Given the description of an element on the screen output the (x, y) to click on. 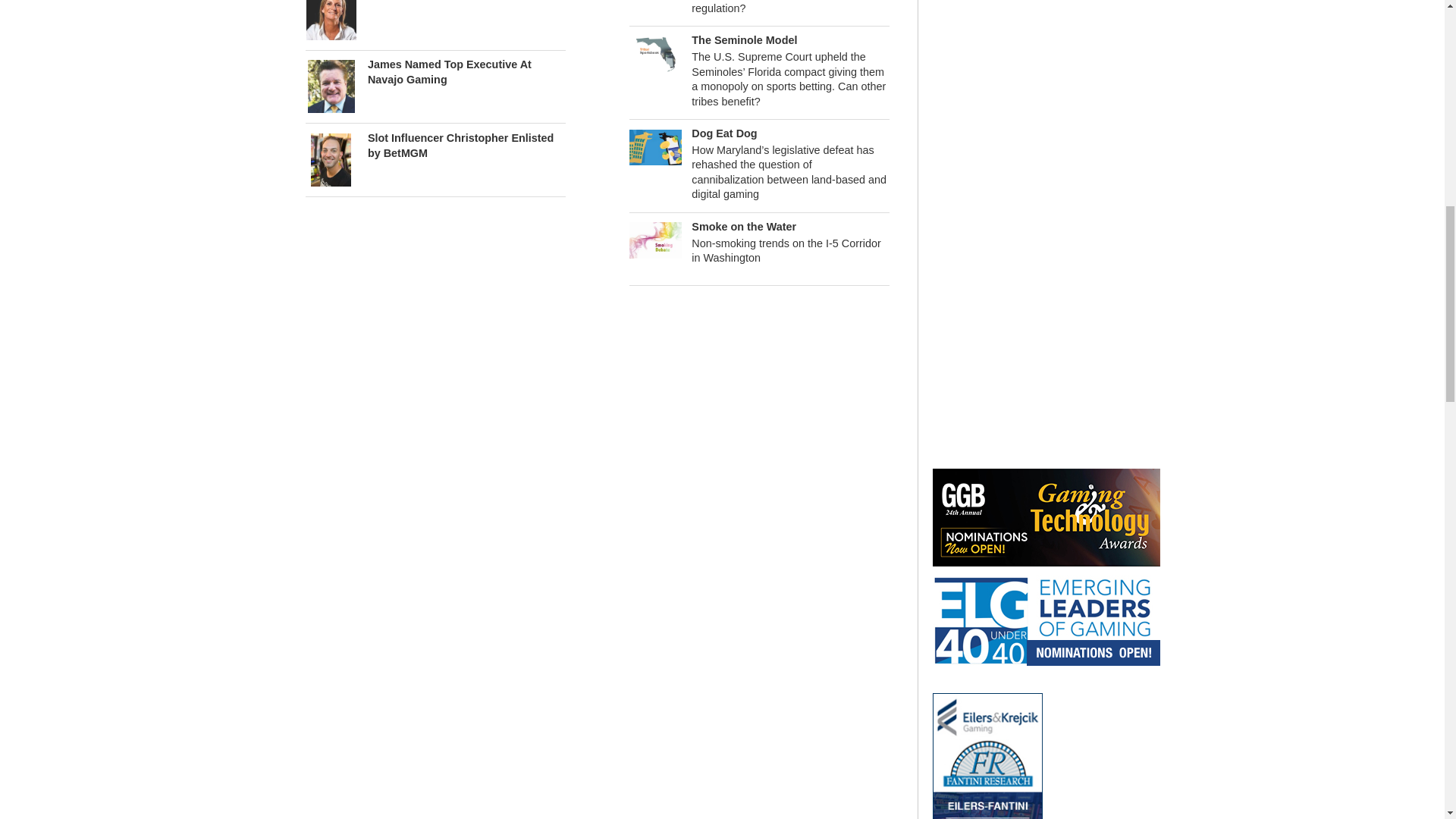
Entain Appoints Emery CMO (330, 12)
